Given the description of an element on the screen output the (x, y) to click on. 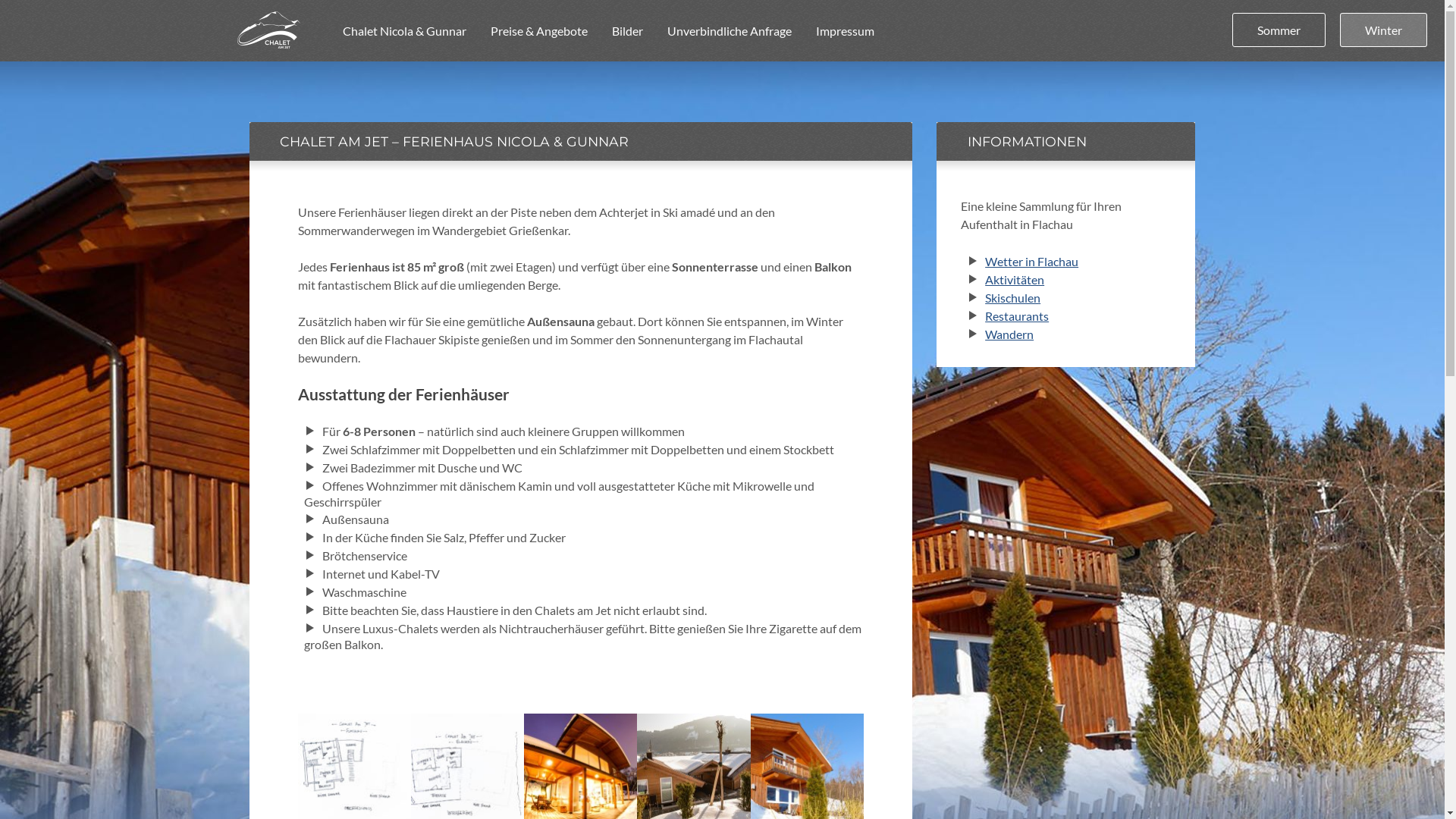
Preise & Angebote Element type: text (538, 30)
Wandern Element type: text (1009, 333)
Sommer Element type: text (1278, 29)
Restaurants Element type: text (1016, 315)
Skischulen Element type: text (1012, 297)
Wetter in Flachau Element type: text (1031, 261)
Unverbindliche Anfrage Element type: text (729, 30)
Chalet Nicola & Gunnar Element type: text (404, 30)
Impressum Element type: text (844, 30)
Winter Element type: text (1383, 29)
Bilder Element type: text (626, 30)
